Given the description of an element on the screen output the (x, y) to click on. 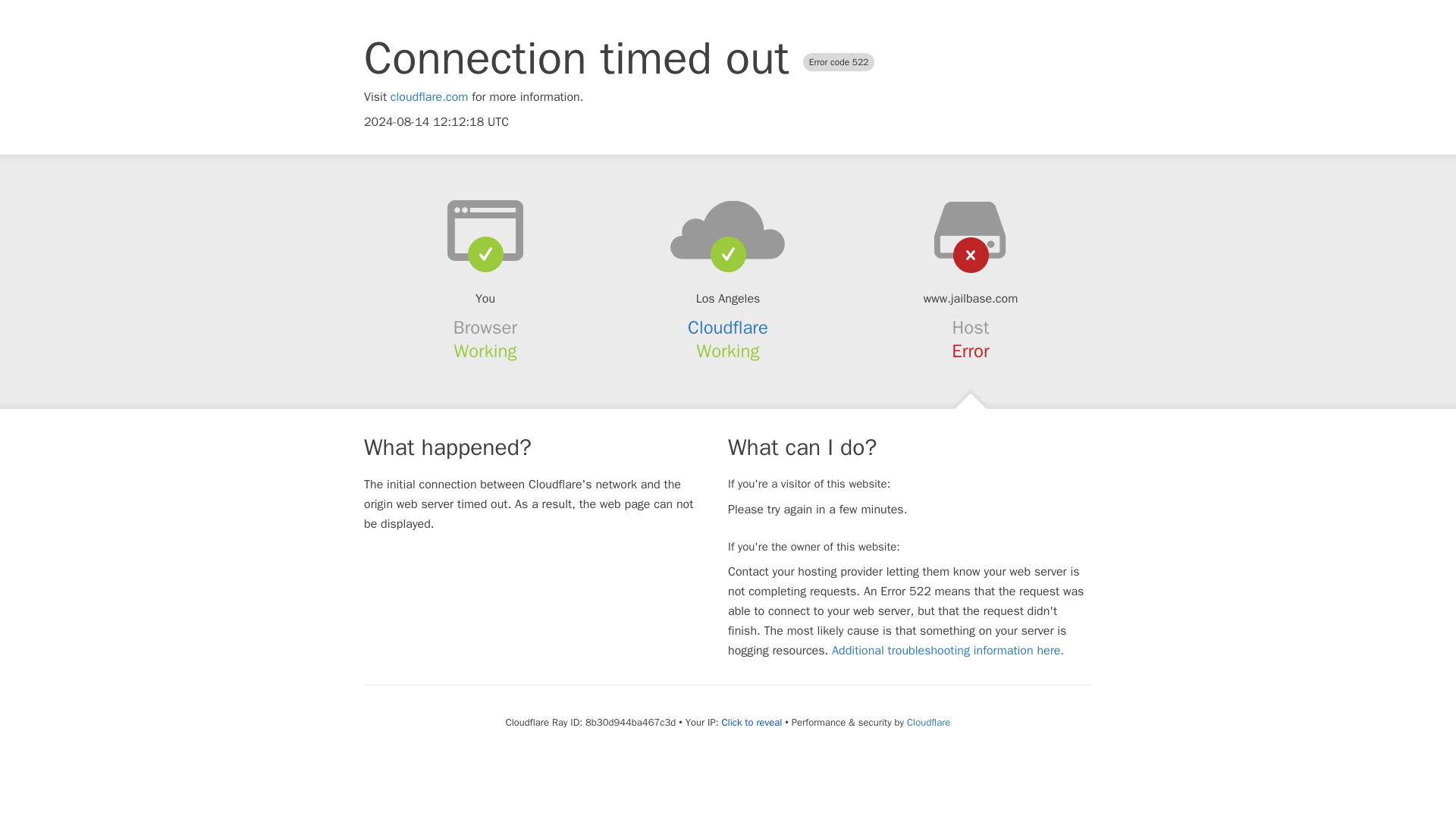
cloudflare.com (429, 96)
Click to reveal (750, 722)
Cloudflare (727, 327)
Additional troubleshooting information here. (947, 650)
Cloudflare (928, 721)
